Given the description of an element on the screen output the (x, y) to click on. 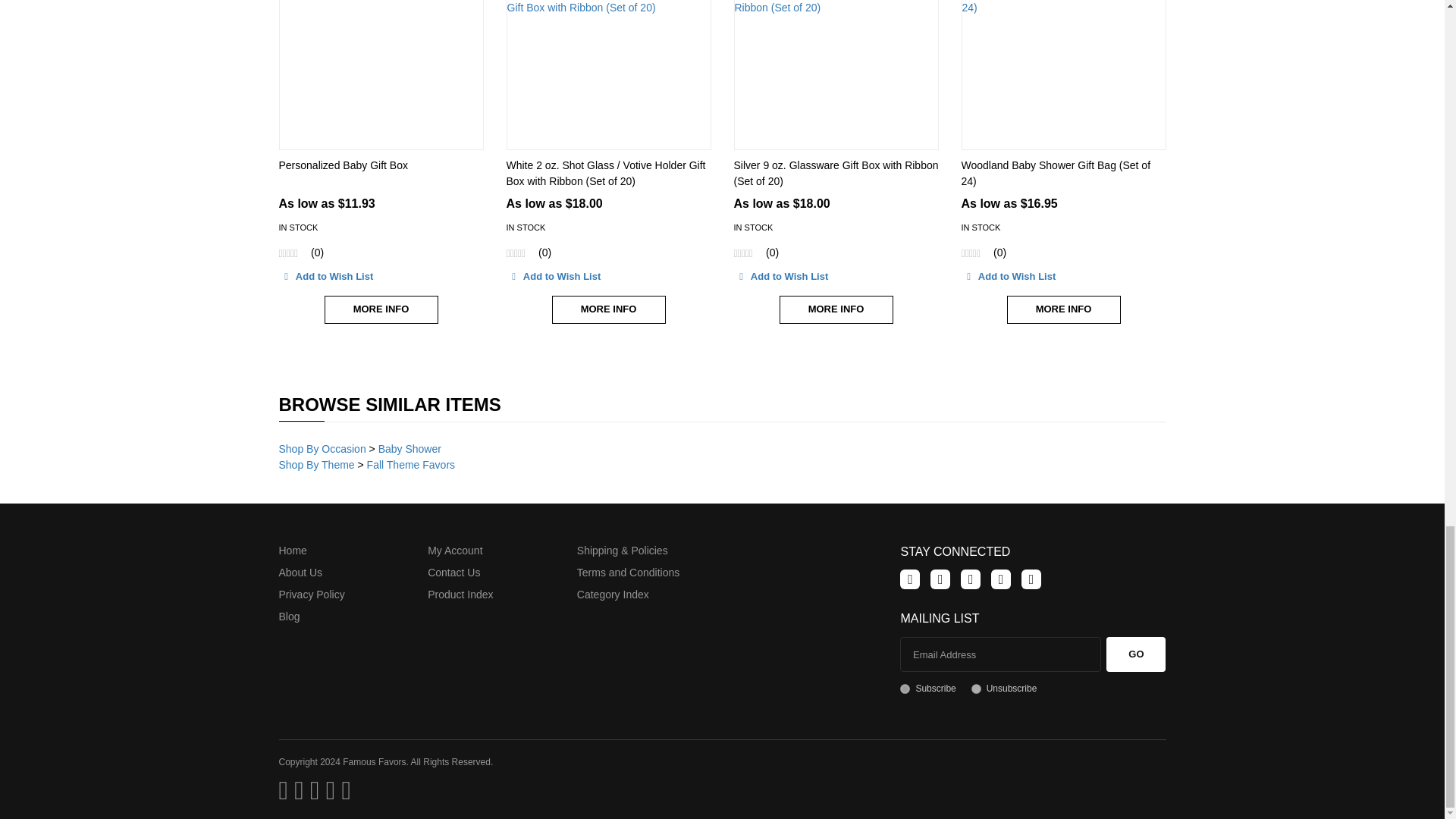
Follow Us on Twitter (940, 578)
Like Us on Facebook (909, 578)
0 (976, 688)
1 (904, 688)
Follow Us on Pinterest (1000, 578)
Subscribe to our Channel (969, 578)
